Given the description of an element on the screen output the (x, y) to click on. 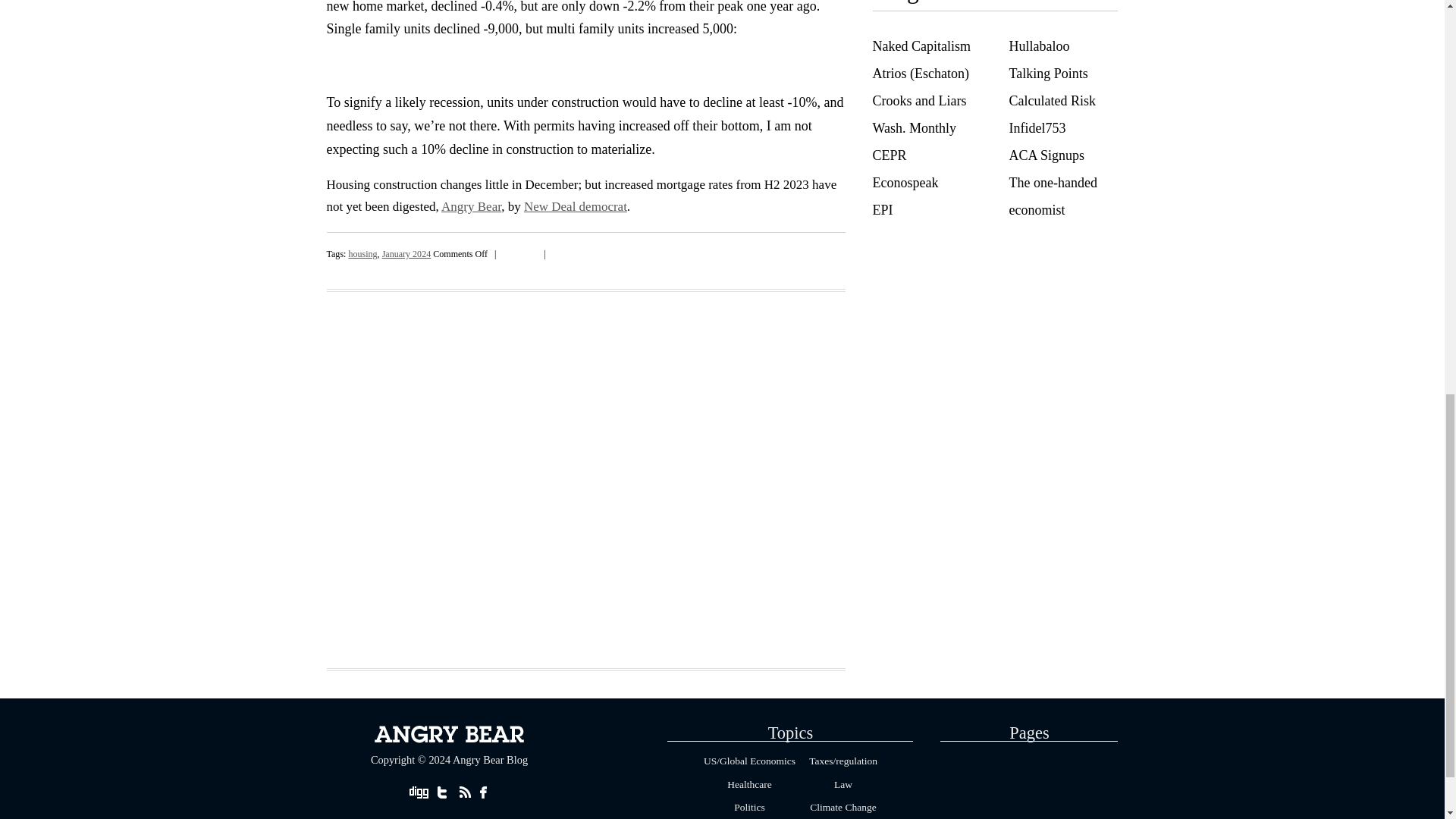
Twitter (532, 251)
January 2024 (405, 253)
Angry Bear (470, 206)
housing (362, 253)
Digg (507, 251)
New Deal democrat (575, 206)
Facebook (519, 251)
